Given the description of an element on the screen output the (x, y) to click on. 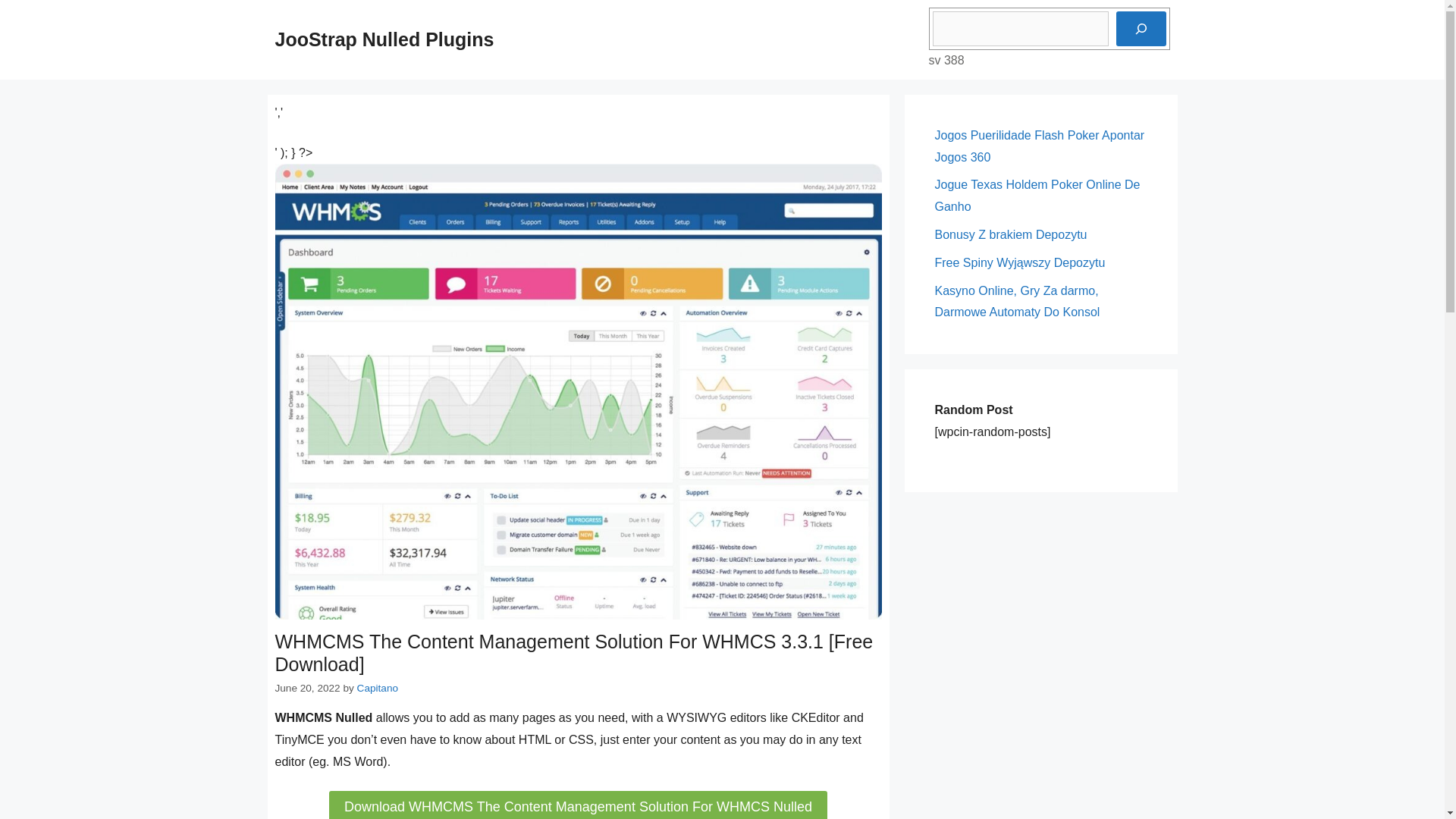
Bonusy Z brakiem Depozytu (1010, 234)
View all posts by Capitano (376, 687)
Jogue Texas Holdem Poker Online De Ganho (1037, 195)
sv 388 (945, 60)
Kasyno Online, Gry Za darmo, Darmowe Automaty Do Konsol (1016, 301)
Capitano (376, 687)
Jogos Puerilidade Flash Poker Apontar Jogos 360 (1039, 145)
JooStrap Nulled Plugins (384, 38)
